Given the description of an element on the screen output the (x, y) to click on. 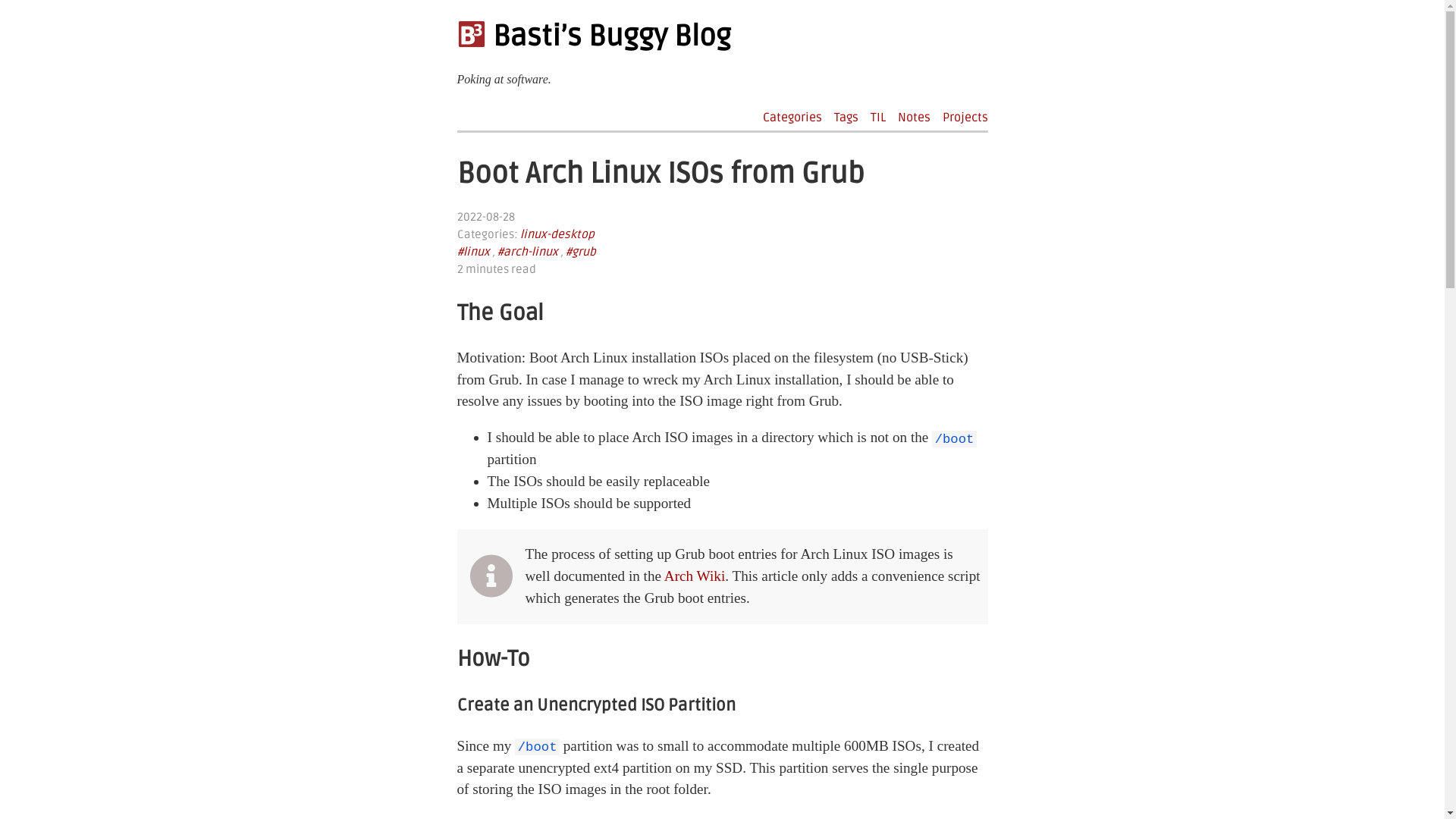
TIL Element type: text (877, 117)
Notes Element type: text (913, 117)
Projects Element type: text (964, 117)
Arch Wiki Element type: text (694, 575)
linux-desktop Element type: text (557, 234)
#linux Element type: text (472, 251)
Tags Element type: text (846, 117)
#grub Element type: text (580, 251)
Categories Element type: text (792, 117)
#arch-linux Element type: text (527, 251)
